Given the description of an element on the screen output the (x, y) to click on. 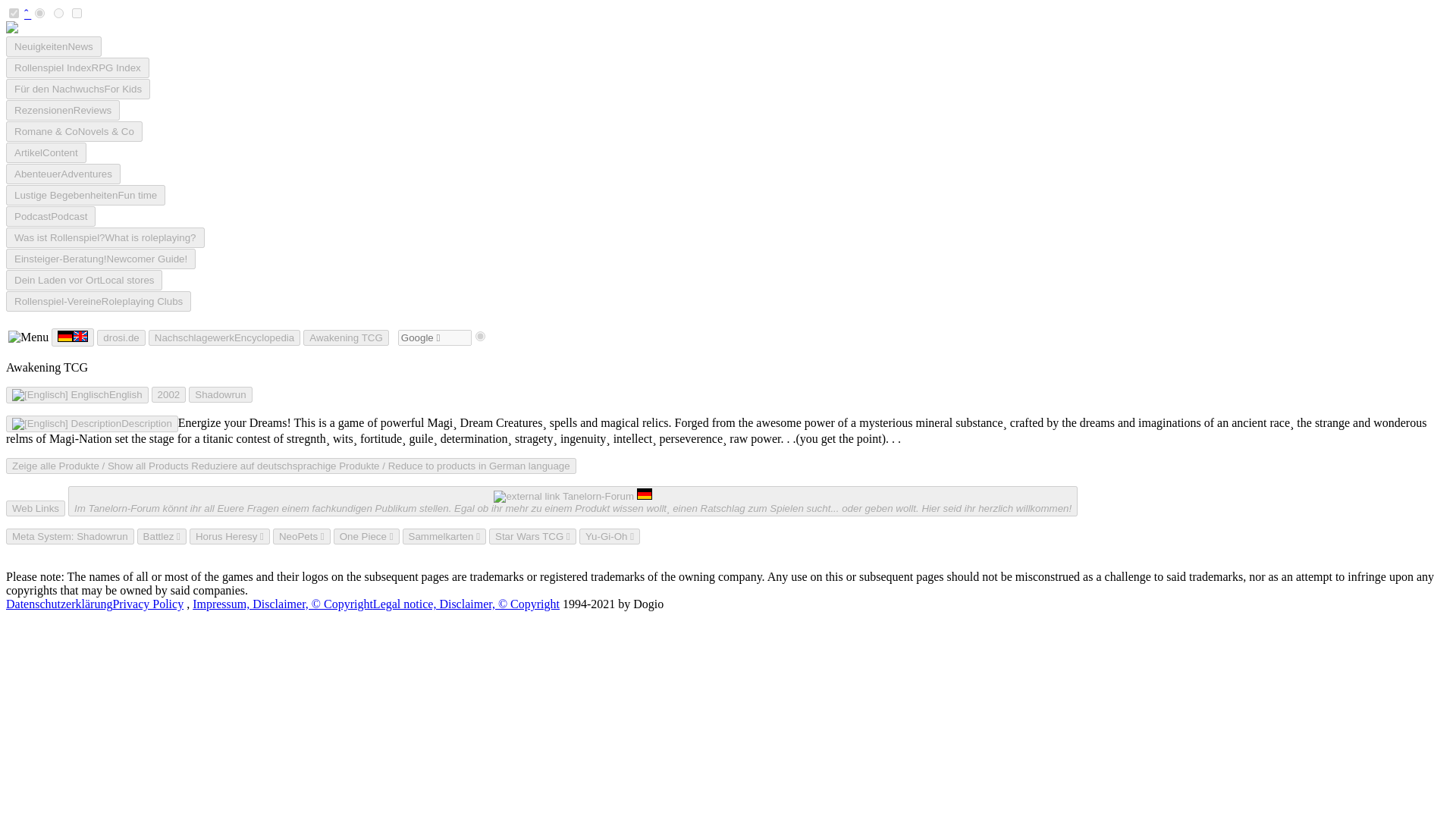
AbenteuerAdventures (62, 173)
2002 (168, 394)
Awakening TCG (345, 336)
Rollenspiel IndexRPG Index (77, 67)
NachschlagewerkEncyclopedia (223, 336)
on (39, 13)
NachschlagewerkEncyclopedia (223, 336)
on (13, 13)
Shadowrun (220, 393)
on (76, 13)
